Given the description of an element on the screen output the (x, y) to click on. 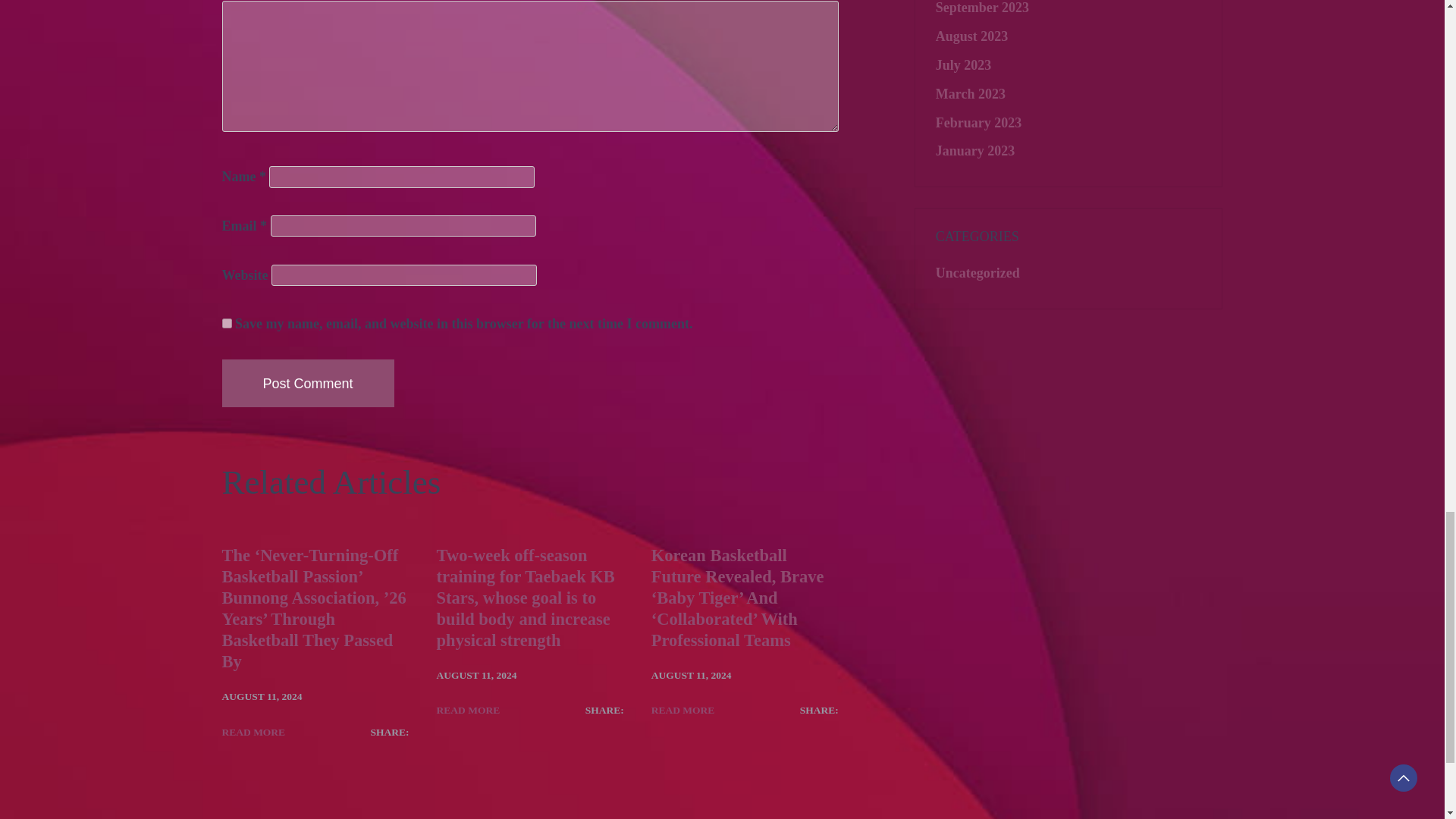
Post Comment (307, 383)
yes (226, 323)
READ MORE (253, 731)
Post Comment (307, 383)
READ MORE (468, 710)
AUGUST 11, 2024 (261, 696)
READ MORE (682, 710)
AUGUST 11, 2024 (476, 675)
AUGUST 11, 2024 (691, 675)
